Given the description of an element on the screen output the (x, y) to click on. 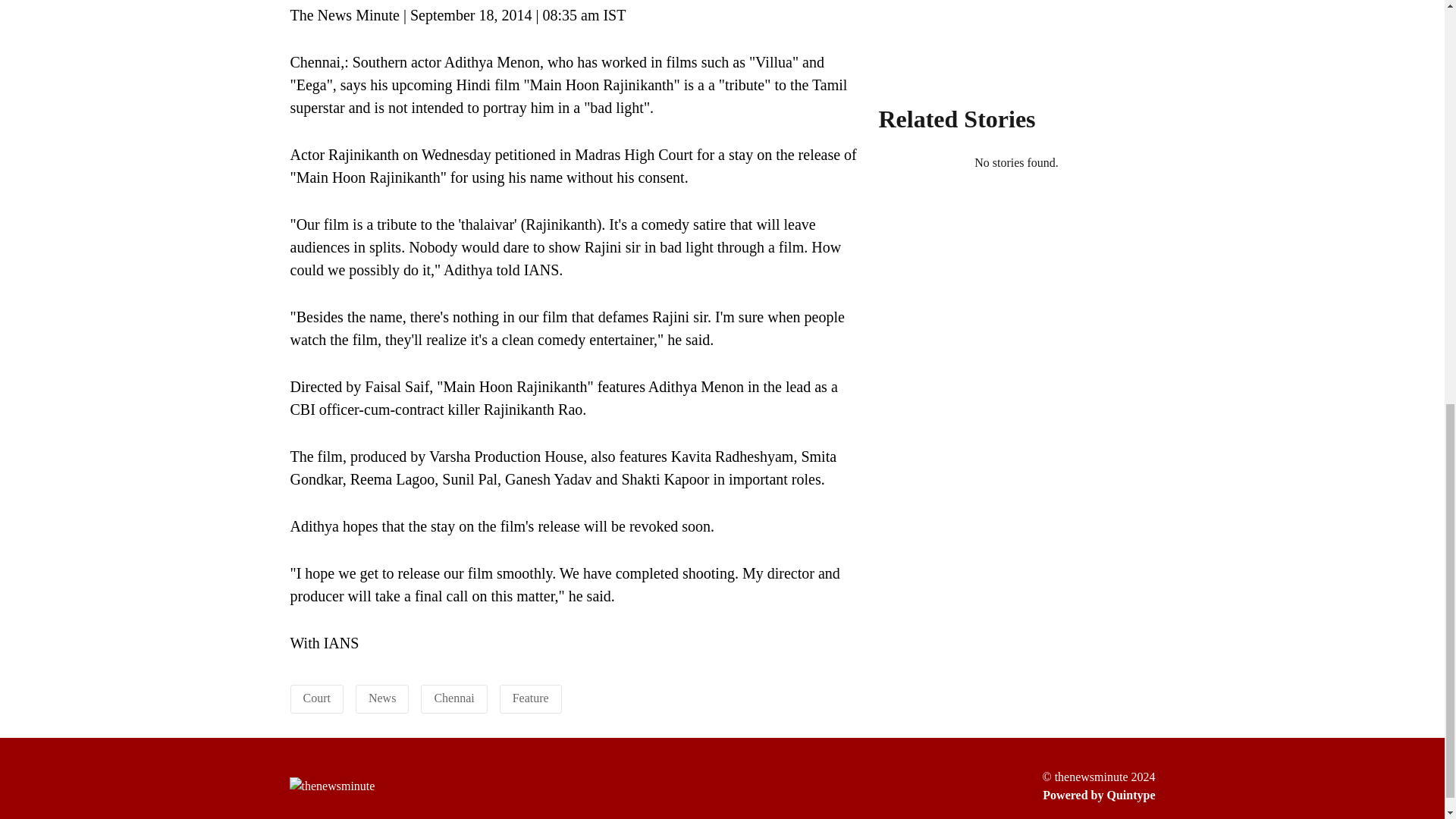
Court (316, 697)
Chennai (453, 697)
News (382, 697)
Powered by Quintype (1098, 795)
Feature (530, 697)
